Given the description of an element on the screen output the (x, y) to click on. 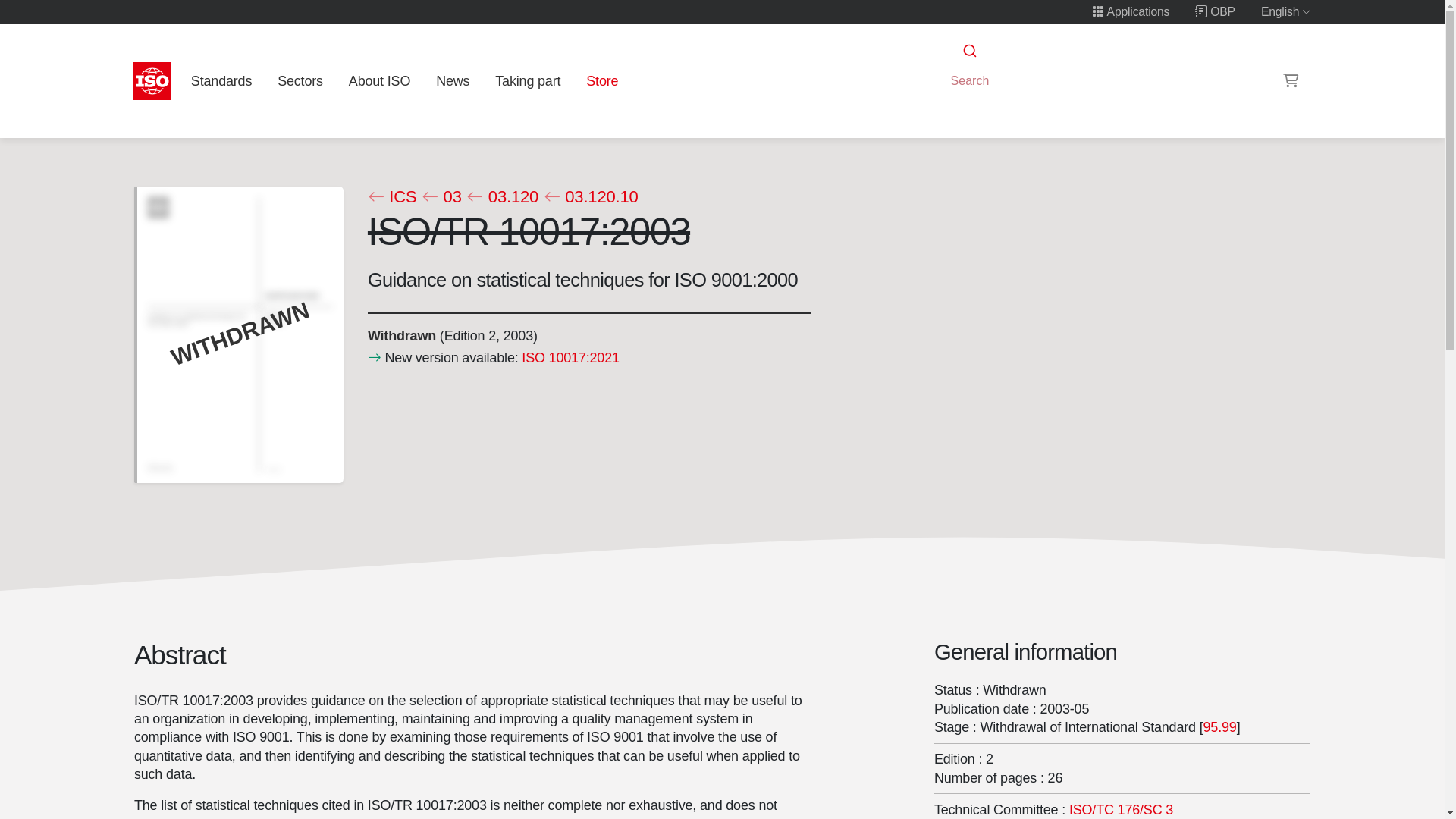
Standards (220, 80)
03.120 (501, 197)
Store (601, 80)
ISO 10017:2021 (569, 356)
Shopping cart (1290, 80)
International Organization for Standardization (152, 80)
95.99 (1220, 726)
Taking part (528, 80)
95.99 (1220, 726)
Submit (968, 51)
About ISO (379, 80)
